Given the description of an element on the screen output the (x, y) to click on. 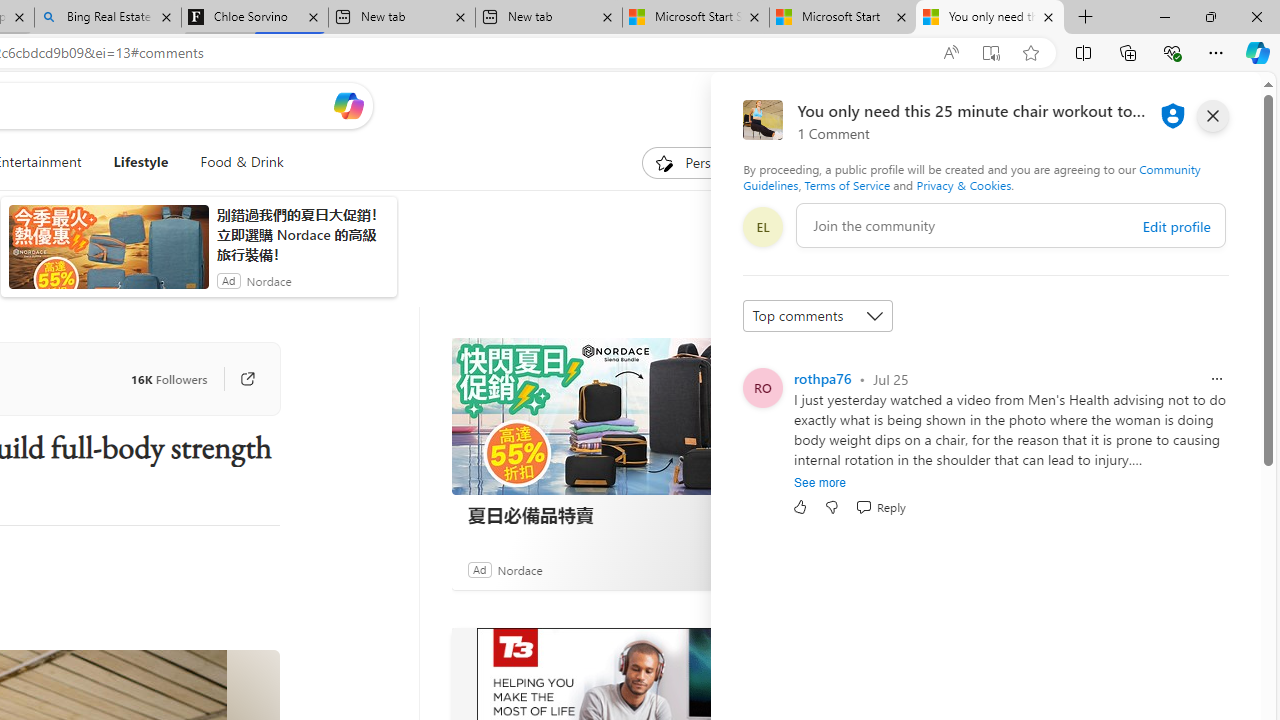
Open settings (1216, 105)
close (1212, 115)
Chloe Sorvino (254, 17)
Enter Immersive Reader (F9) (991, 53)
Privacy & Cookies (964, 184)
Food & Drink (234, 162)
Community Guidelines (971, 176)
